Given the description of an element on the screen output the (x, y) to click on. 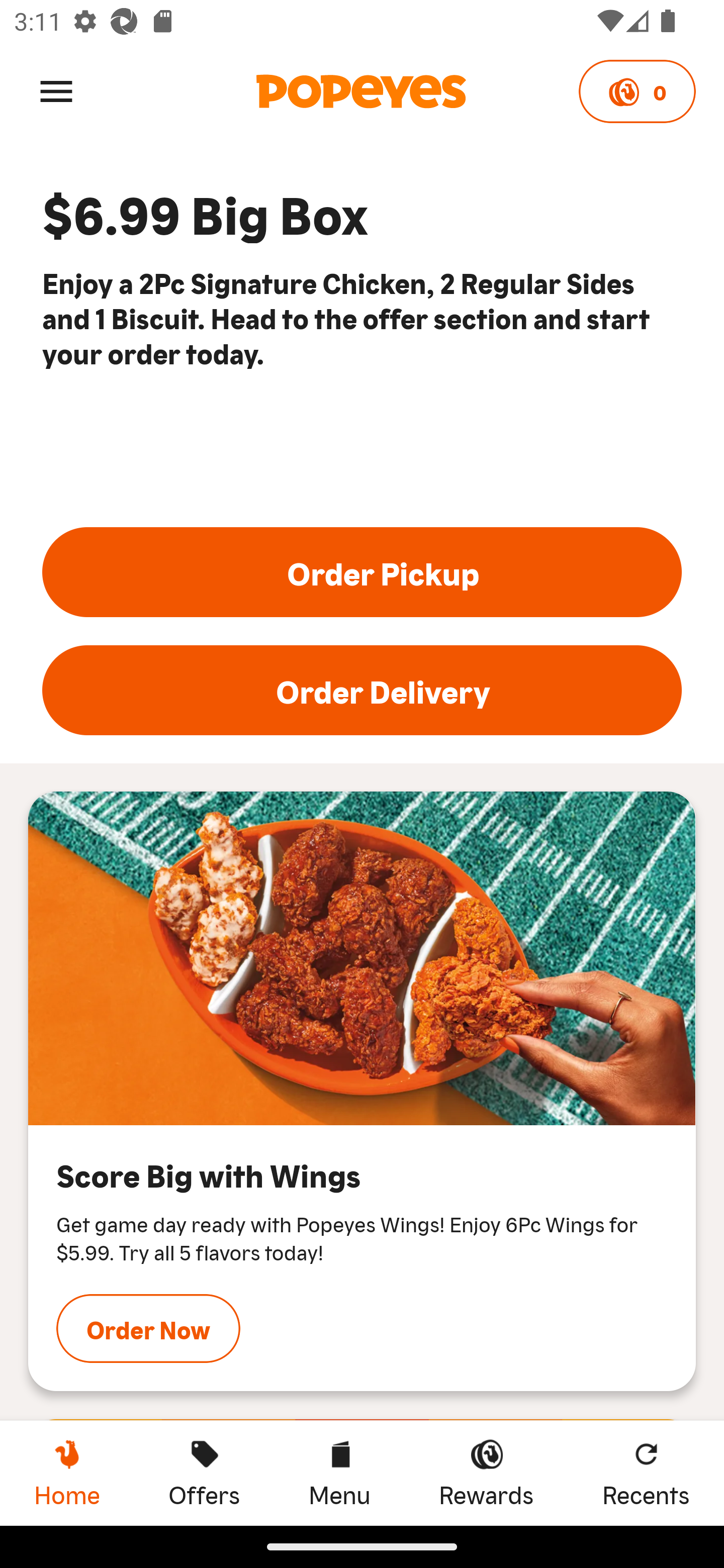
Menu  (56, 90)
0 Points 0 (636, 91)
Order Pickup (361, 571)
Order Delivery (361, 690)
Score Big with Wings (361, 958)
Order Now (148, 1327)
Home, current page Home Home, current page (66, 1472)
Offers Offers Offers (203, 1472)
Menu Menu Menu (339, 1472)
Rewards Rewards Rewards (486, 1472)
Recents Recents Recents (646, 1472)
